Given the description of an element on the screen output the (x, y) to click on. 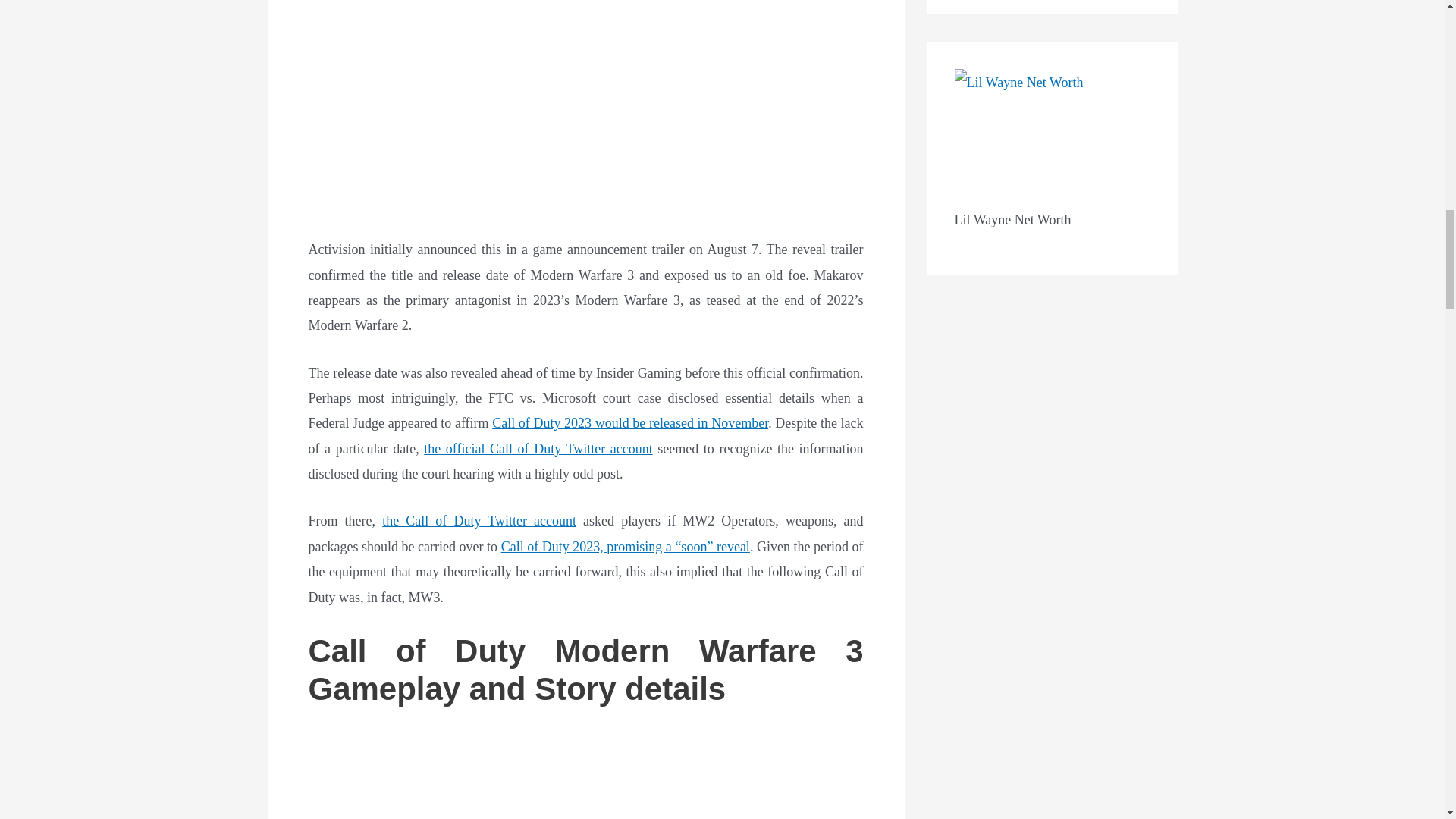
3rd party ad content (585, 111)
